Given the description of an element on the screen output the (x, y) to click on. 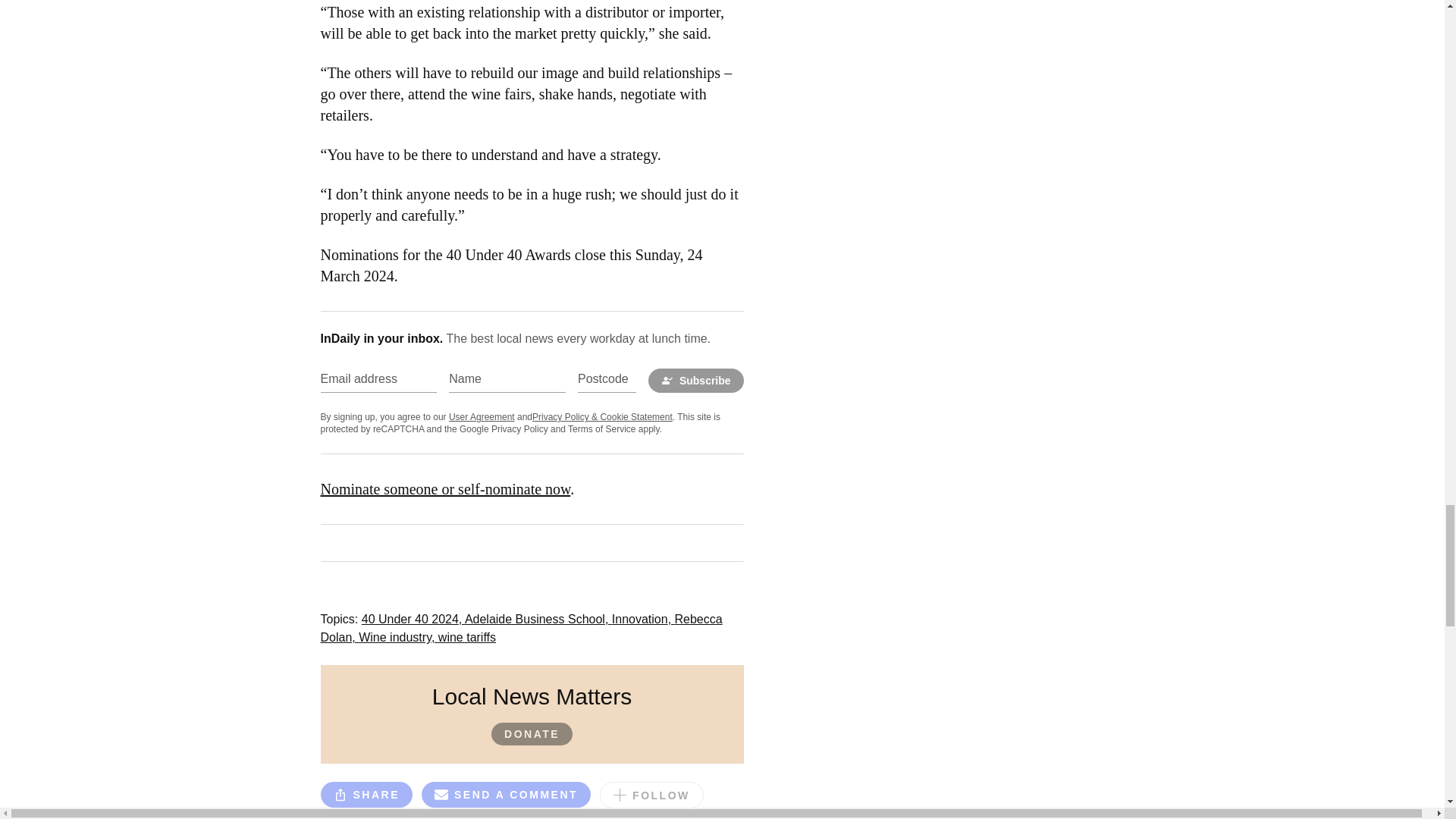
User Agreement (481, 416)
40 Under 40 2024, (412, 618)
Nominate someone or self-nominate now (445, 488)
Innovation, (643, 618)
Subscribe (695, 380)
Rebecca Dolan, (521, 627)
Wine industry, (398, 636)
wine tariffs (467, 636)
Adelaide Business School, (537, 618)
